Given the description of an element on the screen output the (x, y) to click on. 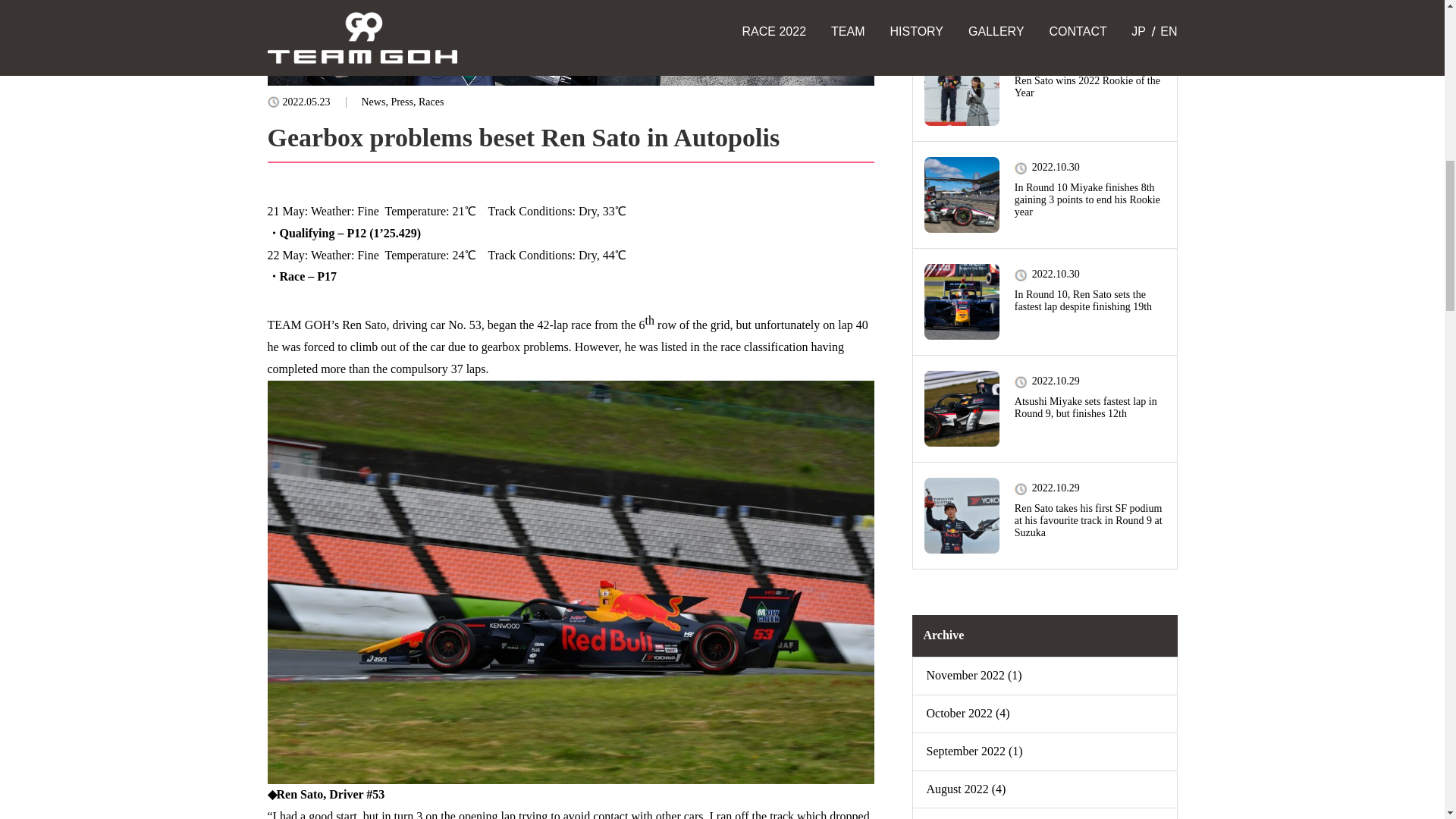
Ren Sato wins 2022 Rookie of the Year (1090, 87)
